Given the description of an element on the screen output the (x, y) to click on. 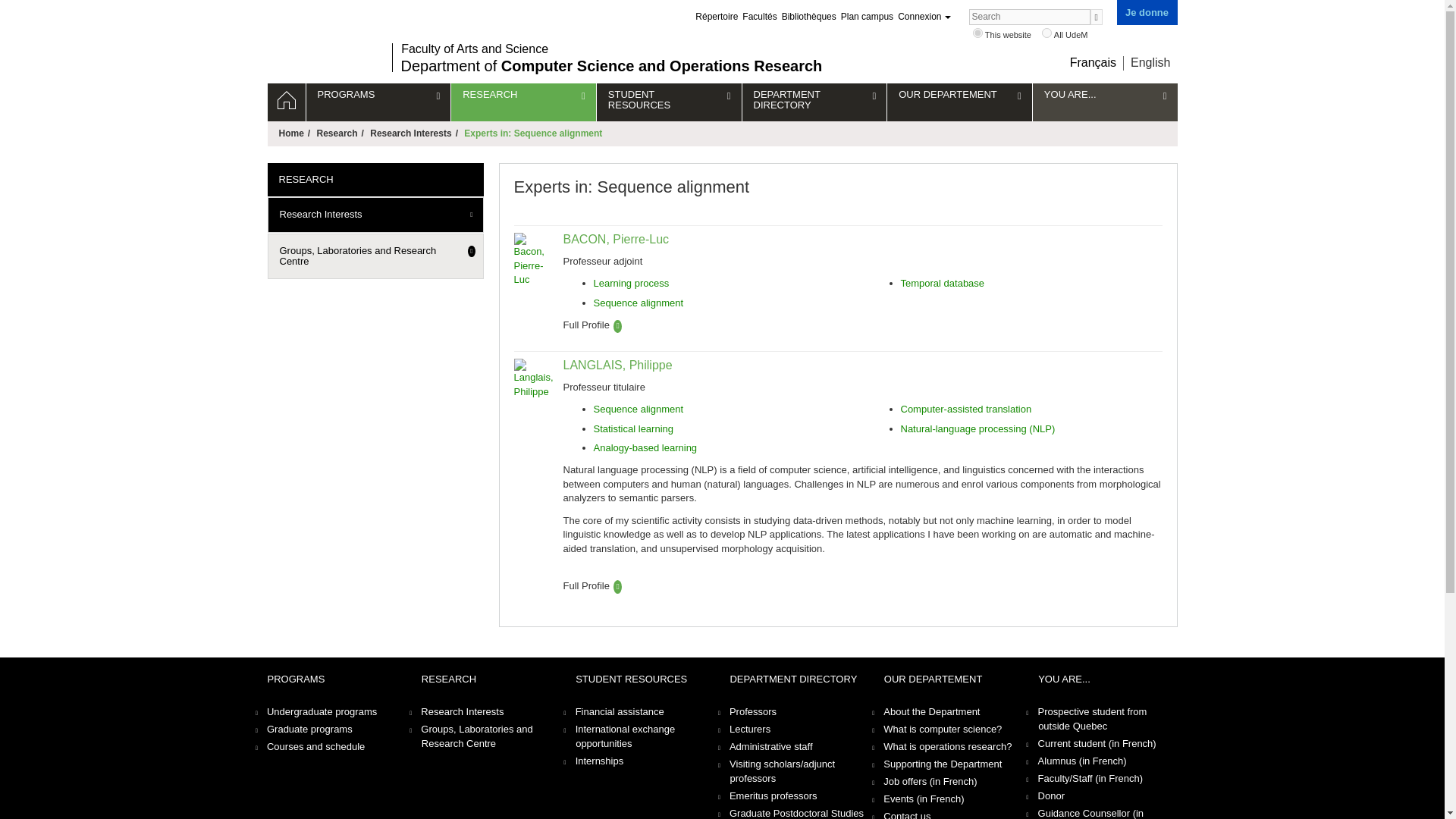
Faculty of Arts and Science (611, 49)
diro.umontreal.ca (977, 32)
DEPARTMENT DIRECTORY (814, 102)
umontreal.ca (1046, 32)
HOME (285, 102)
STUDENT RESOURCES (668, 102)
English (1150, 62)
Home (285, 102)
Department of Computer Science and Operations Research (611, 65)
RESEARCH (523, 102)
PROGRAMS (378, 102)
Je donne (1146, 12)
Plan campus (867, 16)
Connexion (924, 16)
